Given the description of an element on the screen output the (x, y) to click on. 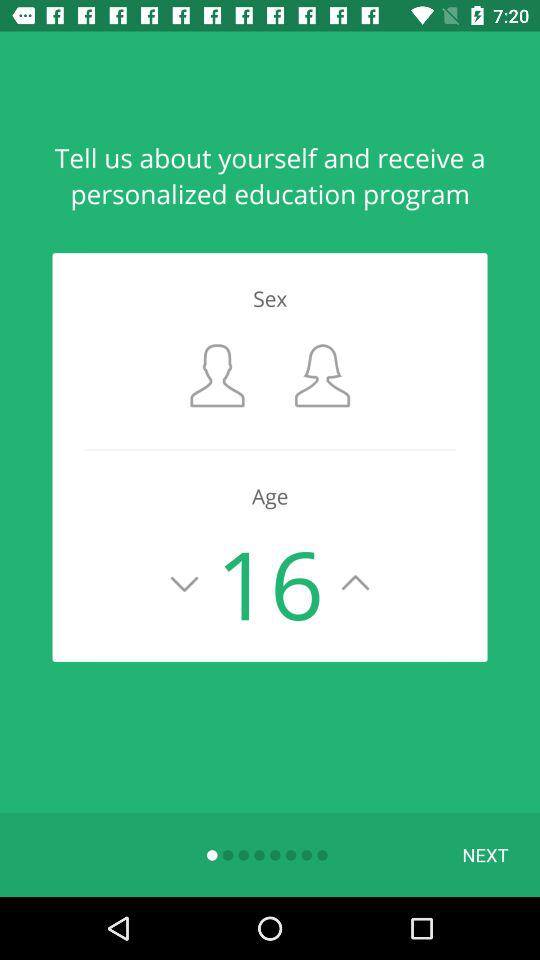
open the item at the bottom right corner (485, 854)
